Given the description of an element on the screen output the (x, y) to click on. 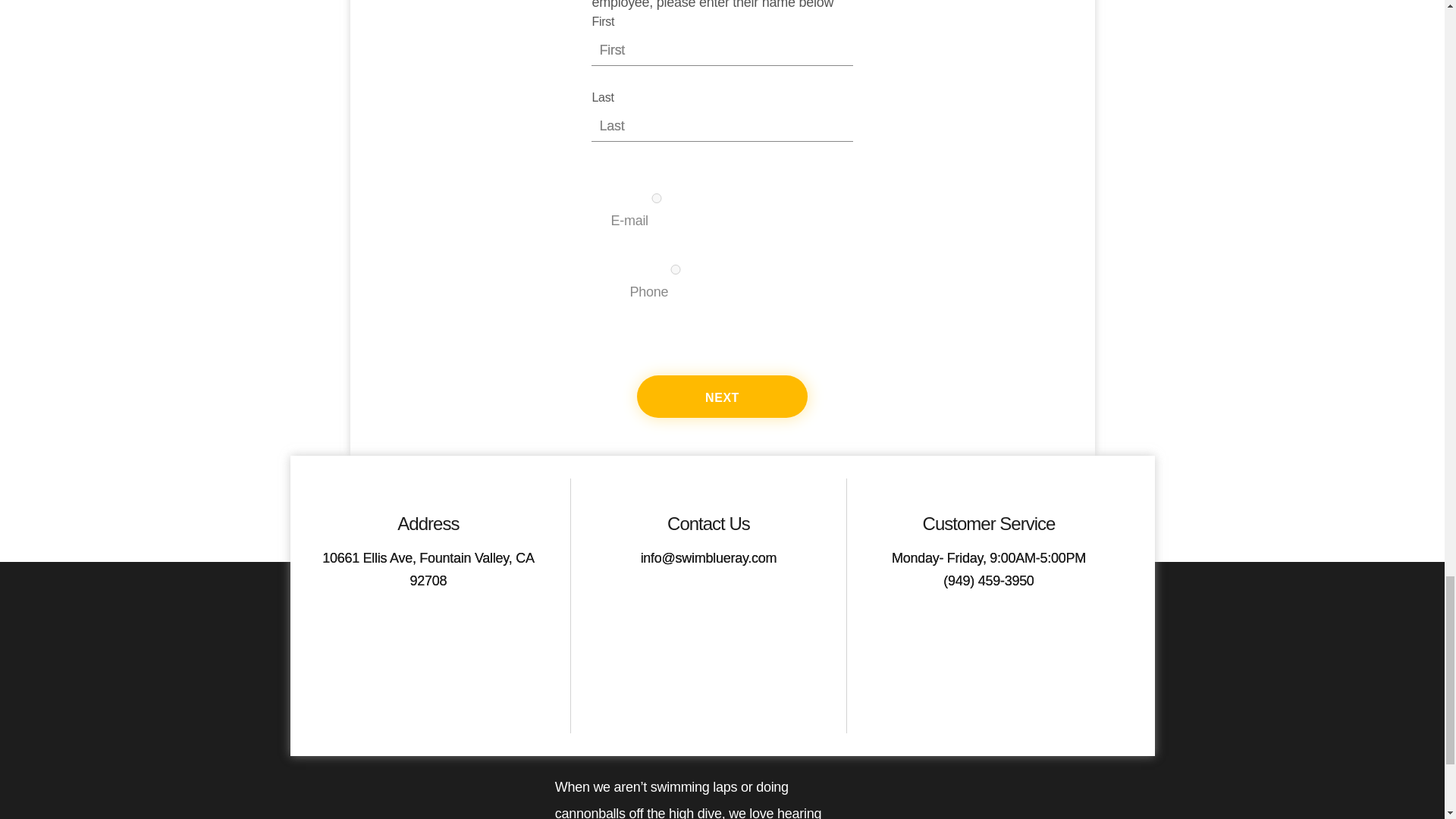
Phone (674, 269)
Next (722, 396)
E-mail (655, 198)
